Given the description of an element on the screen output the (x, y) to click on. 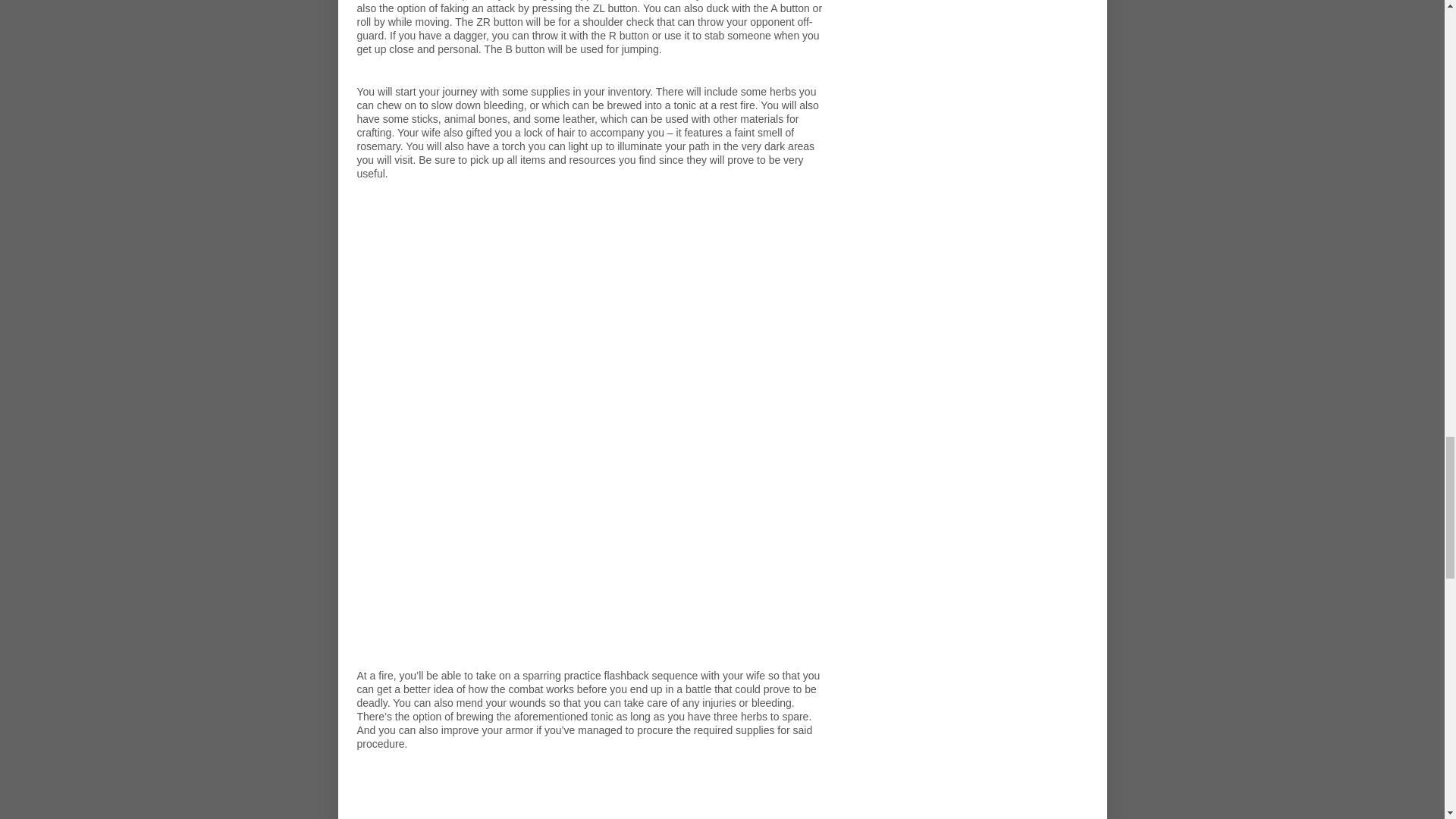
Advertisement (592, 788)
